Given the description of an element on the screen output the (x, y) to click on. 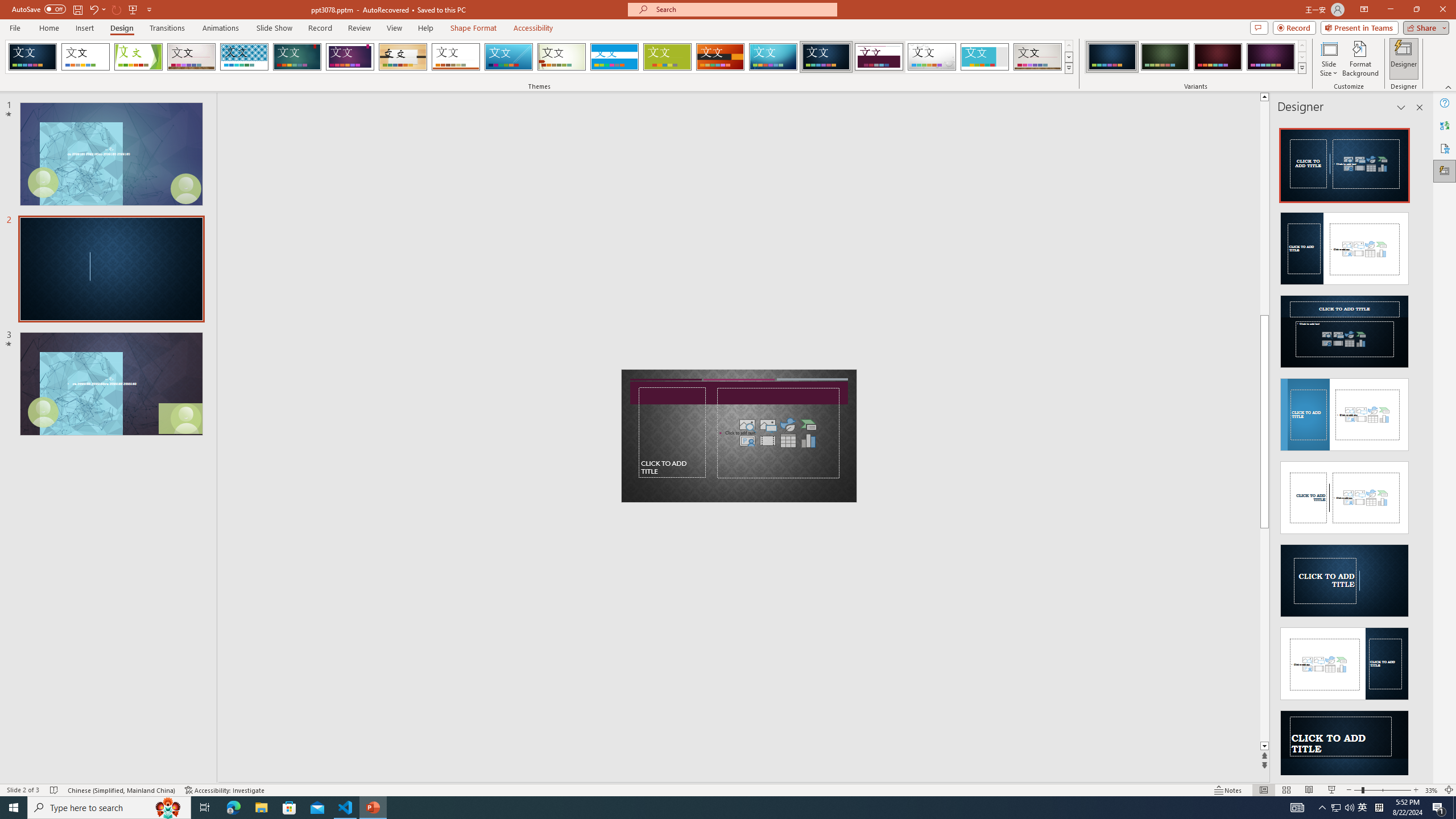
Close (1442, 9)
Insert a SmartArt Graphic (808, 424)
Ion Boardroom (350, 56)
Content Placeholder (777, 432)
Insert (83, 28)
Damask Variant 3 (1217, 56)
Damask Variant 1 (1112, 56)
Zoom 33% (1431, 790)
Circuit (772, 56)
Microsoft search (742, 9)
Help (1444, 102)
Droplet (931, 56)
Zoom Out (1357, 790)
Review (359, 28)
Ion (296, 56)
